Given the description of an element on the screen output the (x, y) to click on. 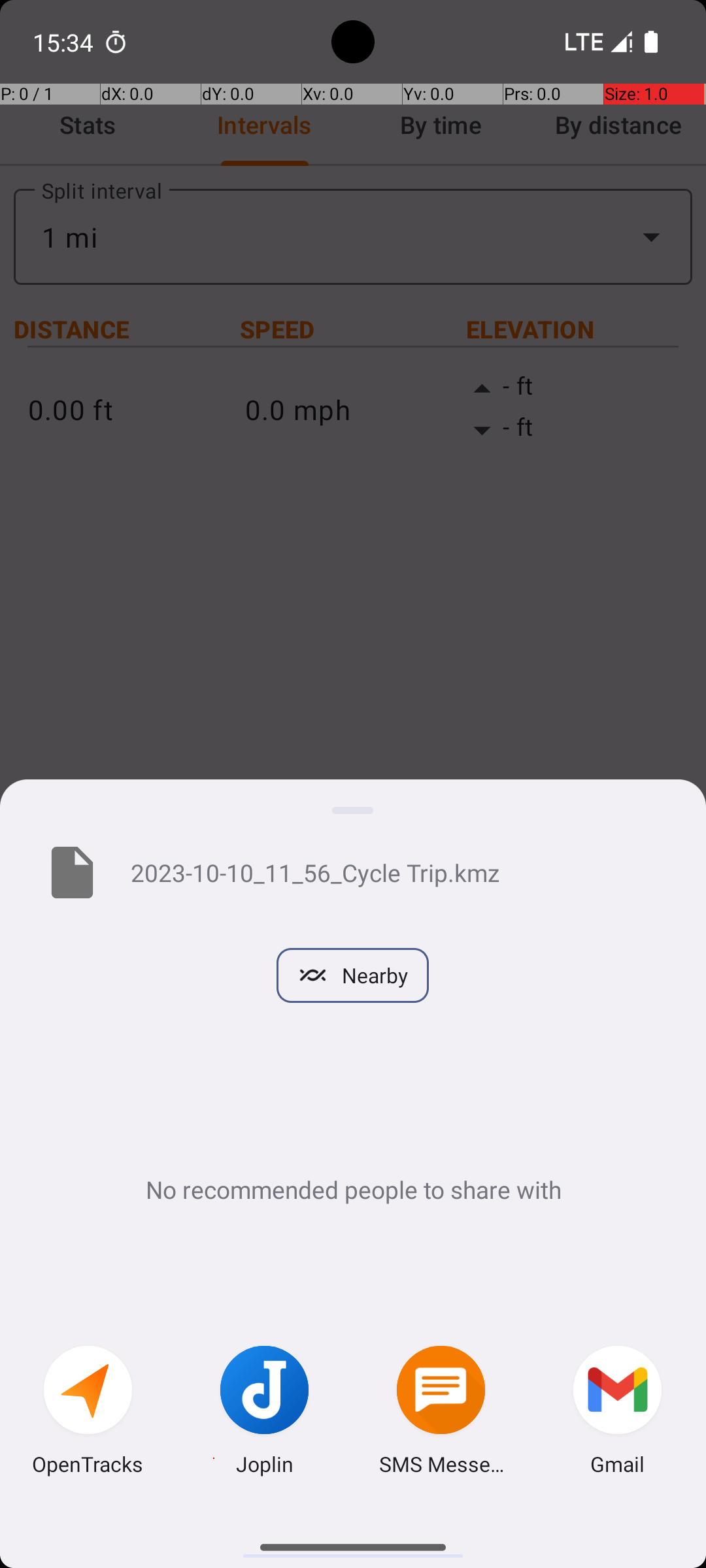
2023-10-10_11_56_Cycle Trip.kmz Element type: android.widget.TextView (397, 872)
